Given the description of an element on the screen output the (x, y) to click on. 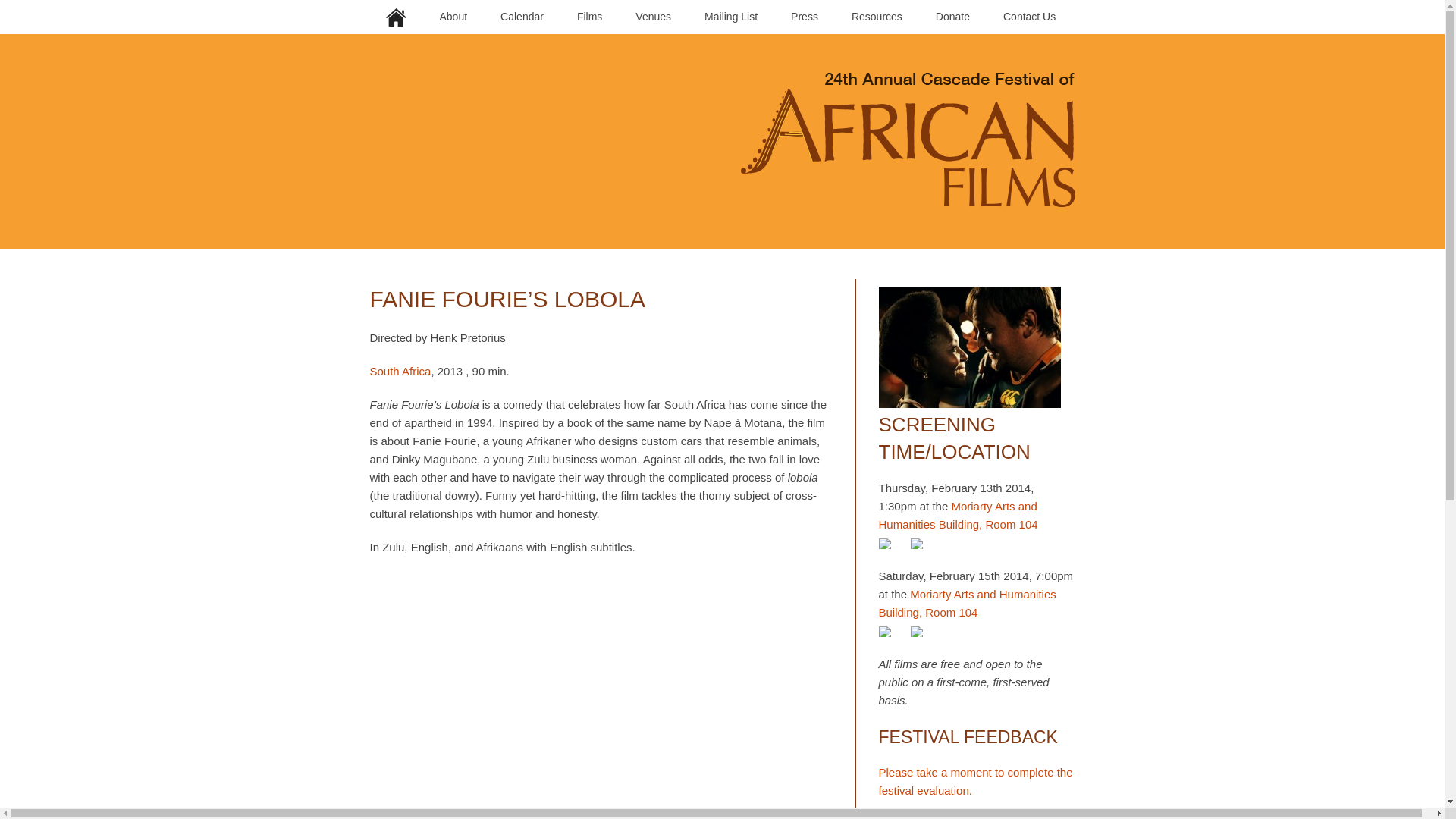
Press (803, 17)
Films (589, 17)
Calendar (521, 17)
Mailing List (730, 17)
Venues (653, 17)
About (453, 17)
Films (589, 17)
Calendar (521, 17)
Home (395, 17)
Venues (653, 17)
